Given the description of an element on the screen output the (x, y) to click on. 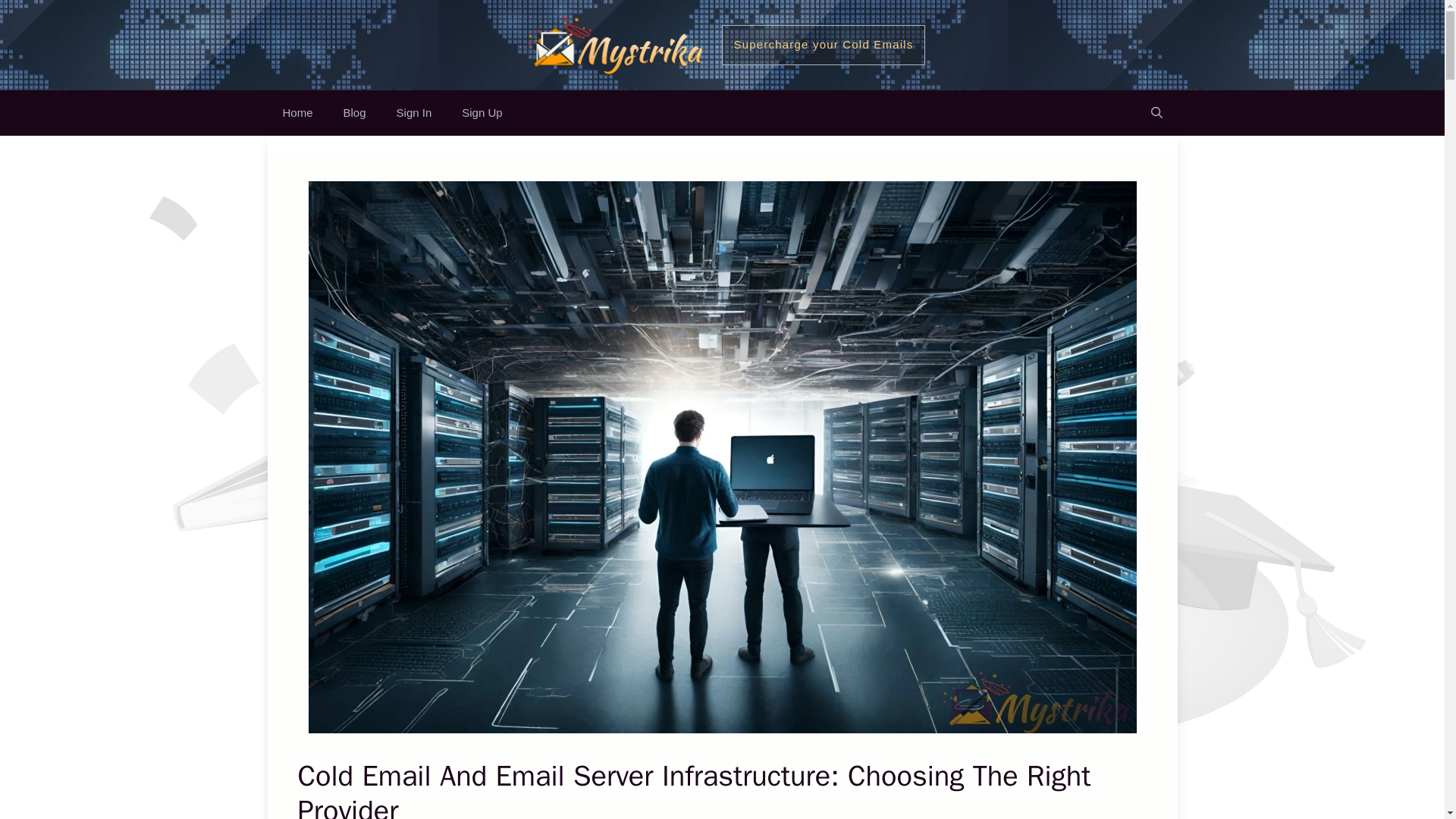
Sign In (413, 112)
Blog (355, 112)
Sign Up (481, 112)
Home (296, 112)
